Given the description of an element on the screen output the (x, y) to click on. 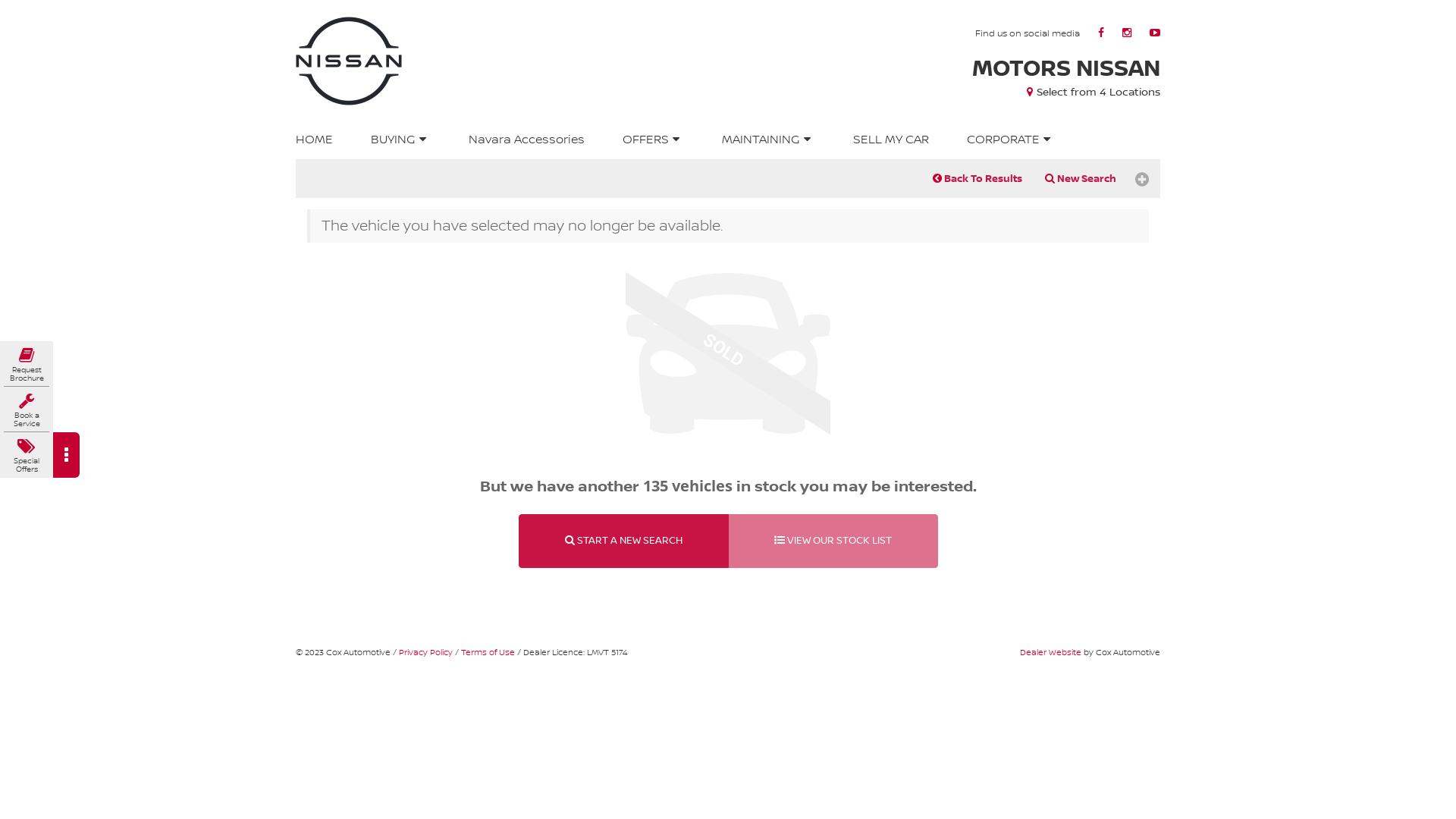
BUYING Element type: text (400, 140)
New Search Element type: text (1080, 178)
Facebook Element type: hover (1101, 32)
Instagram Element type: hover (1126, 32)
HOME Element type: text (315, 140)
Back To Results Element type: text (977, 178)
VIEW OUR STOCK LIST Element type: text (833, 540)
START A NEW SEARCH Element type: text (623, 540)
MAINTAINING Element type: text (768, 140)
Youtube Element type: hover (1154, 32)
Terms of Use Element type: text (487, 652)
Request Brochure Element type: text (26, 364)
Dealer Website Element type: text (1050, 652)
SELL MY CAR Element type: text (890, 140)
Privacy Policy Element type: text (425, 652)
Navara Accessories Element type: text (526, 140)
Select from 4 Locations Element type: text (1091, 92)
Book a Service Element type: text (26, 410)
OFFERS Element type: text (653, 140)
Special Offers Element type: text (26, 455)
CORPORATE Element type: text (1010, 140)
